Given the description of an element on the screen output the (x, y) to click on. 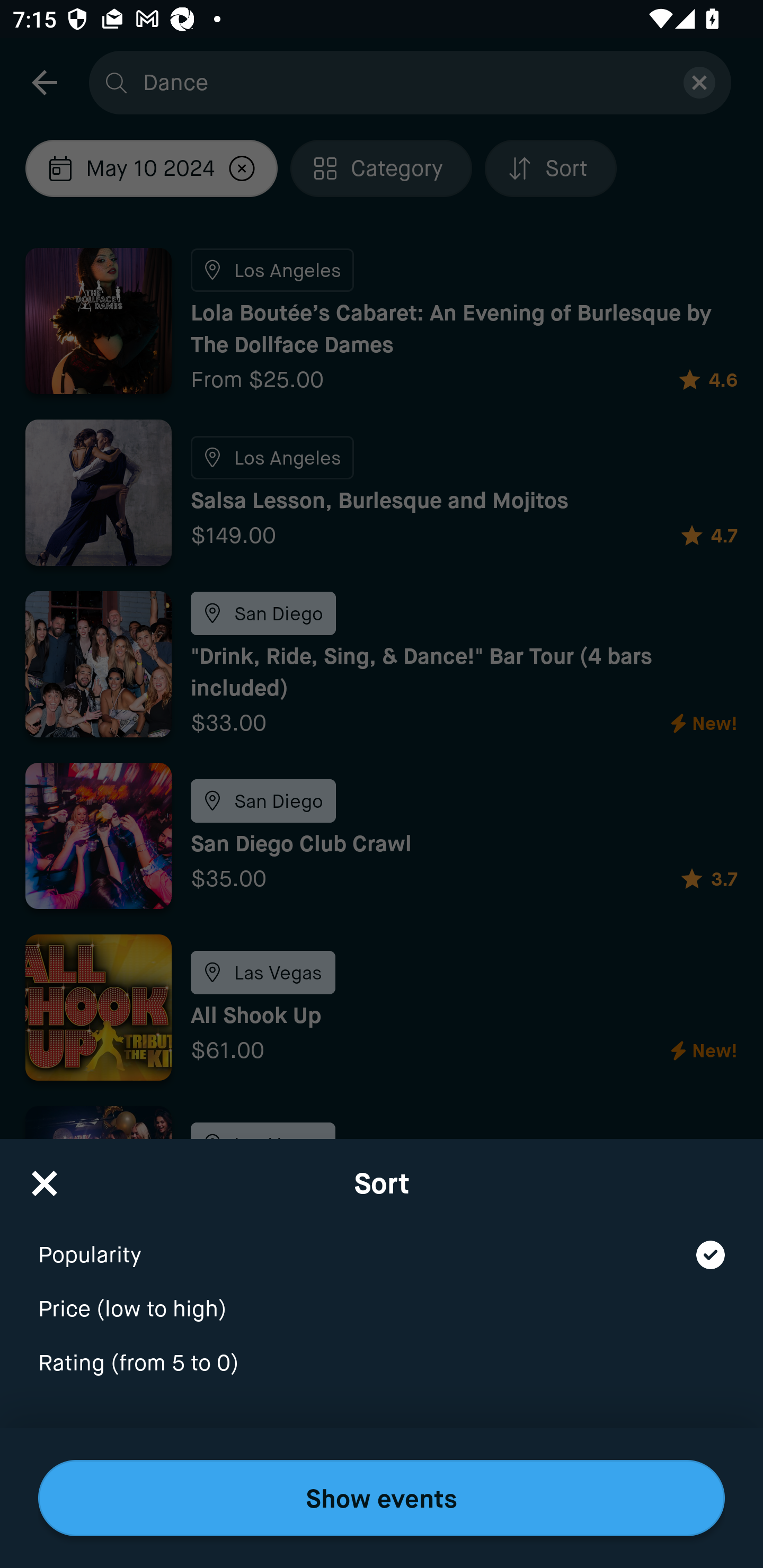
CloseButton (44, 1177)
Popularity Selected Icon (381, 1243)
Price (low to high) (381, 1297)
Rating (from 5 to 0) (381, 1362)
Show events (381, 1497)
